Given the description of an element on the screen output the (x, y) to click on. 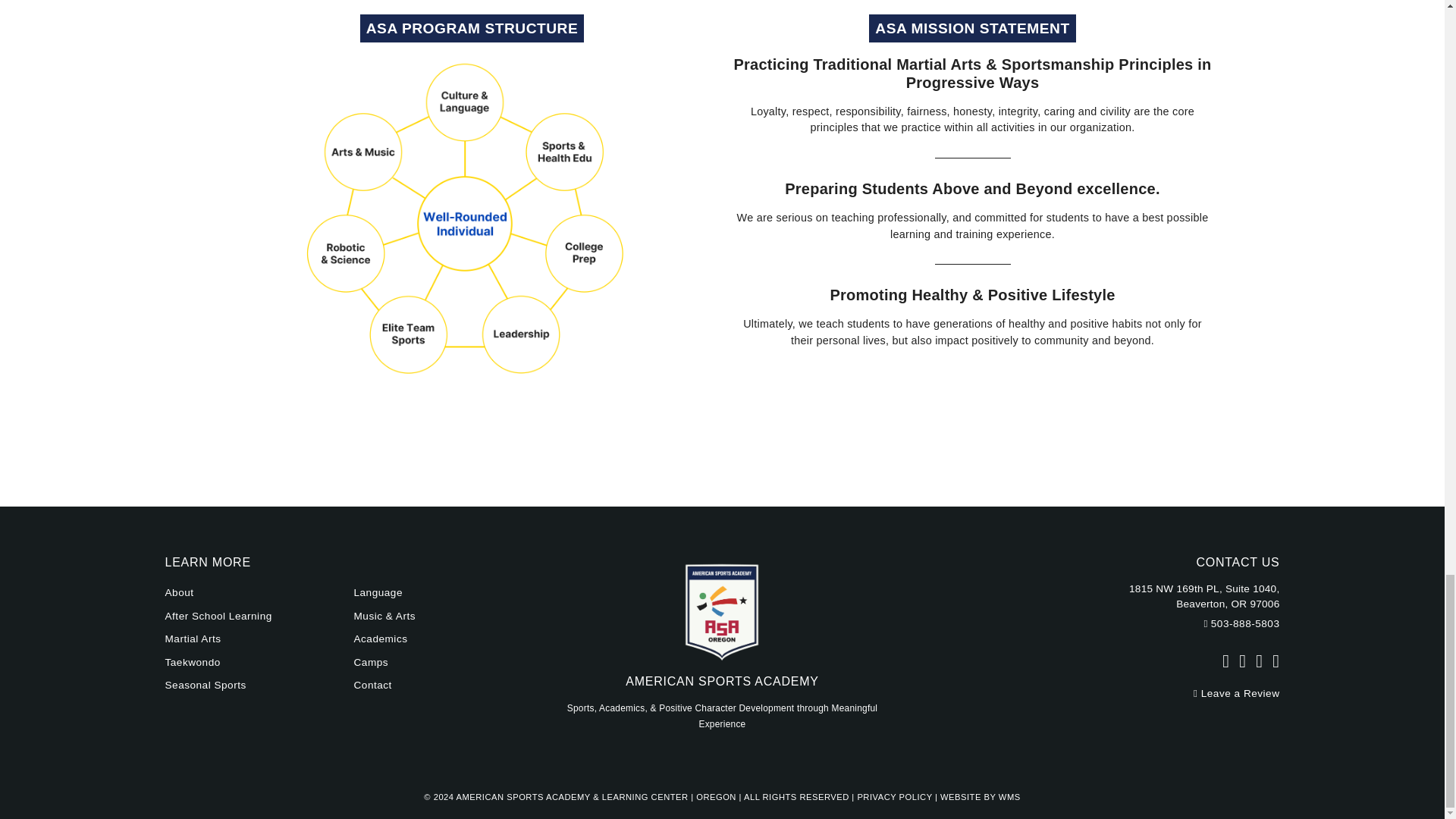
After School Learning (218, 615)
About (179, 592)
Martial Arts (193, 638)
Seasonal Sports (205, 685)
Taekwondo (193, 662)
Language (377, 592)
